Given the description of an element on the screen output the (x, y) to click on. 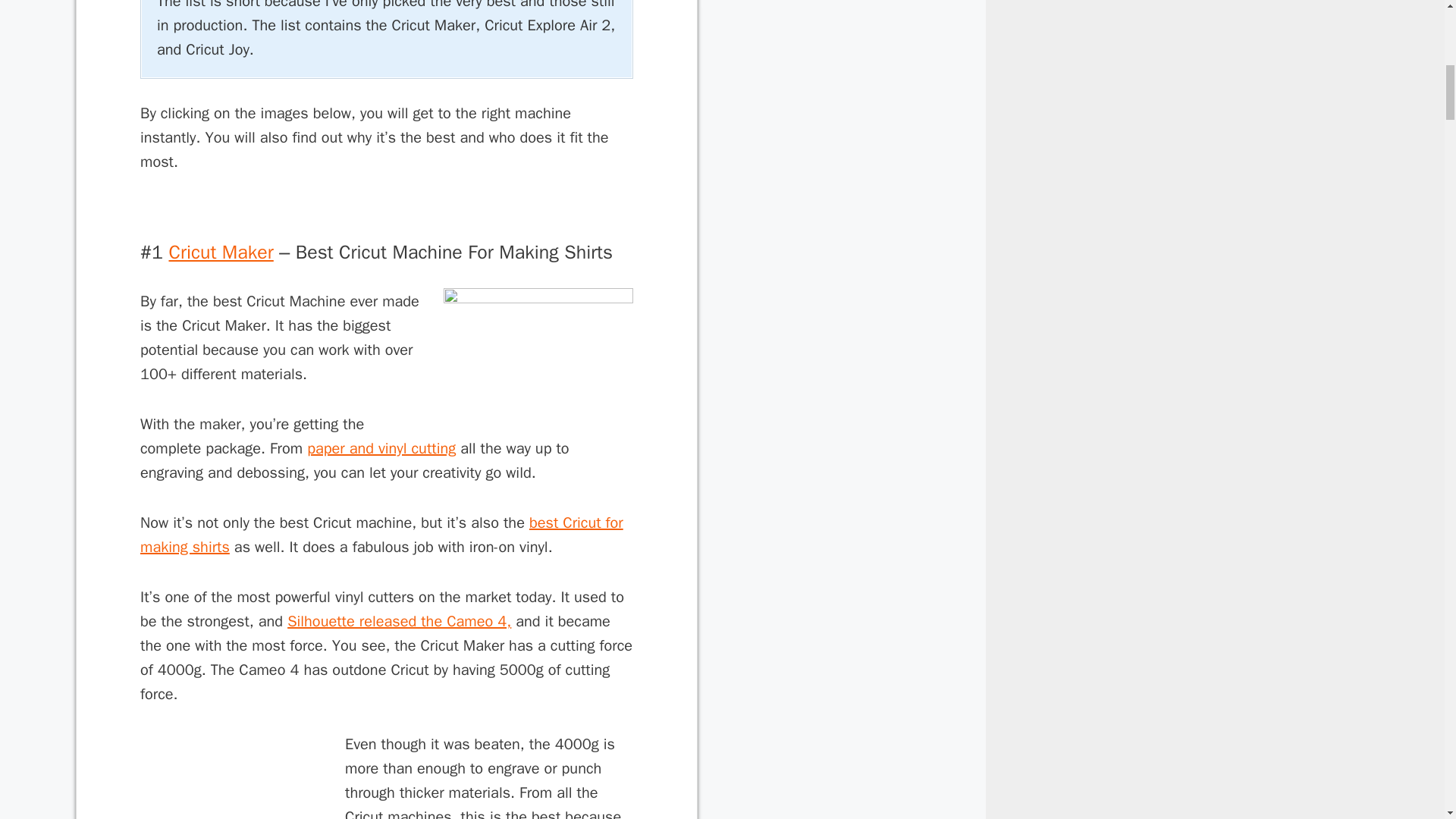
best Cricut for making shirts (381, 534)
paper and vinyl cutting (381, 447)
Cricut Maker (220, 251)
Silhouette released the Cameo 4, (398, 620)
